Given the description of an element on the screen output the (x, y) to click on. 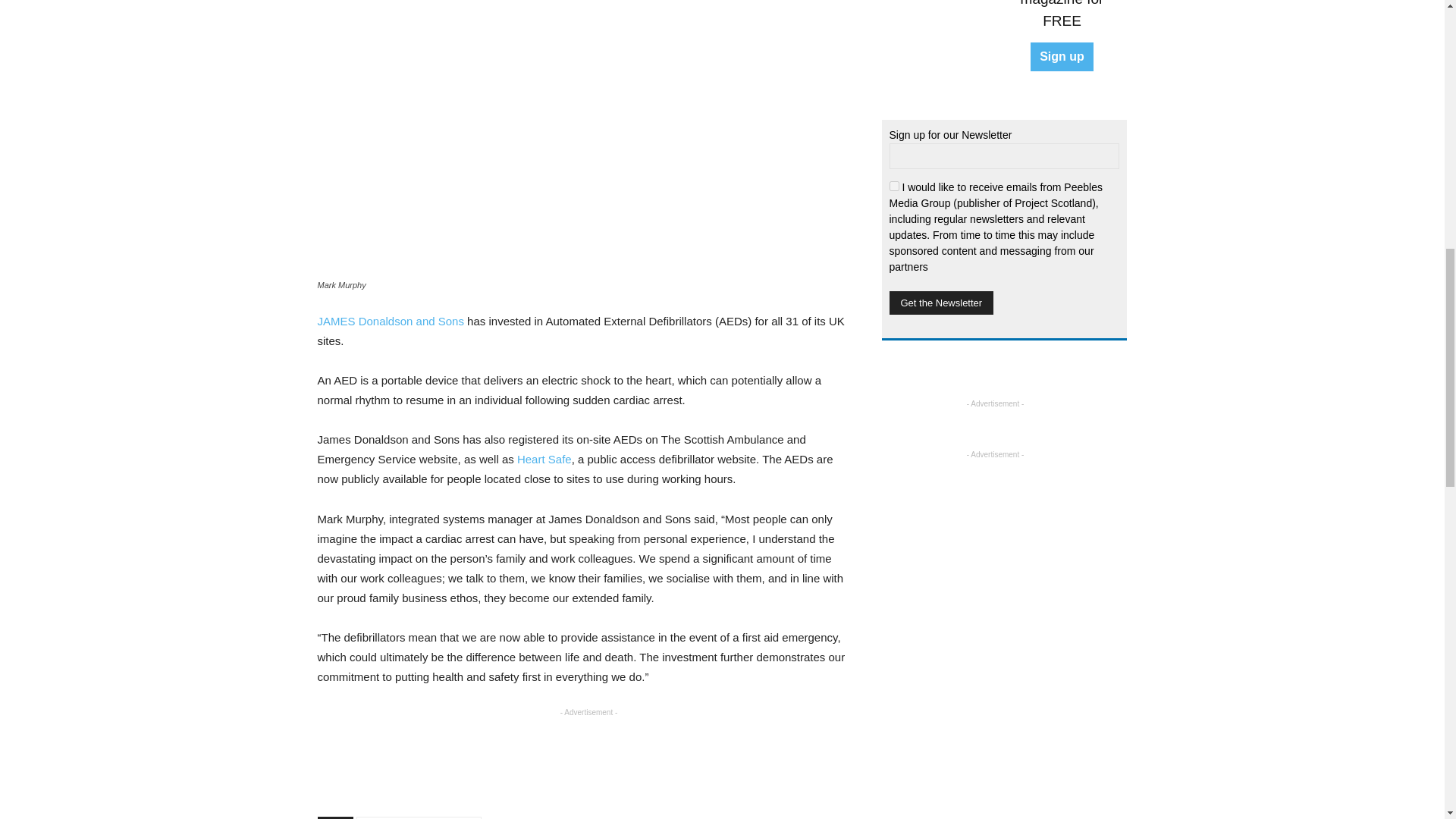
on (893, 185)
Get the Newsletter (940, 302)
